Given the description of an element on the screen output the (x, y) to click on. 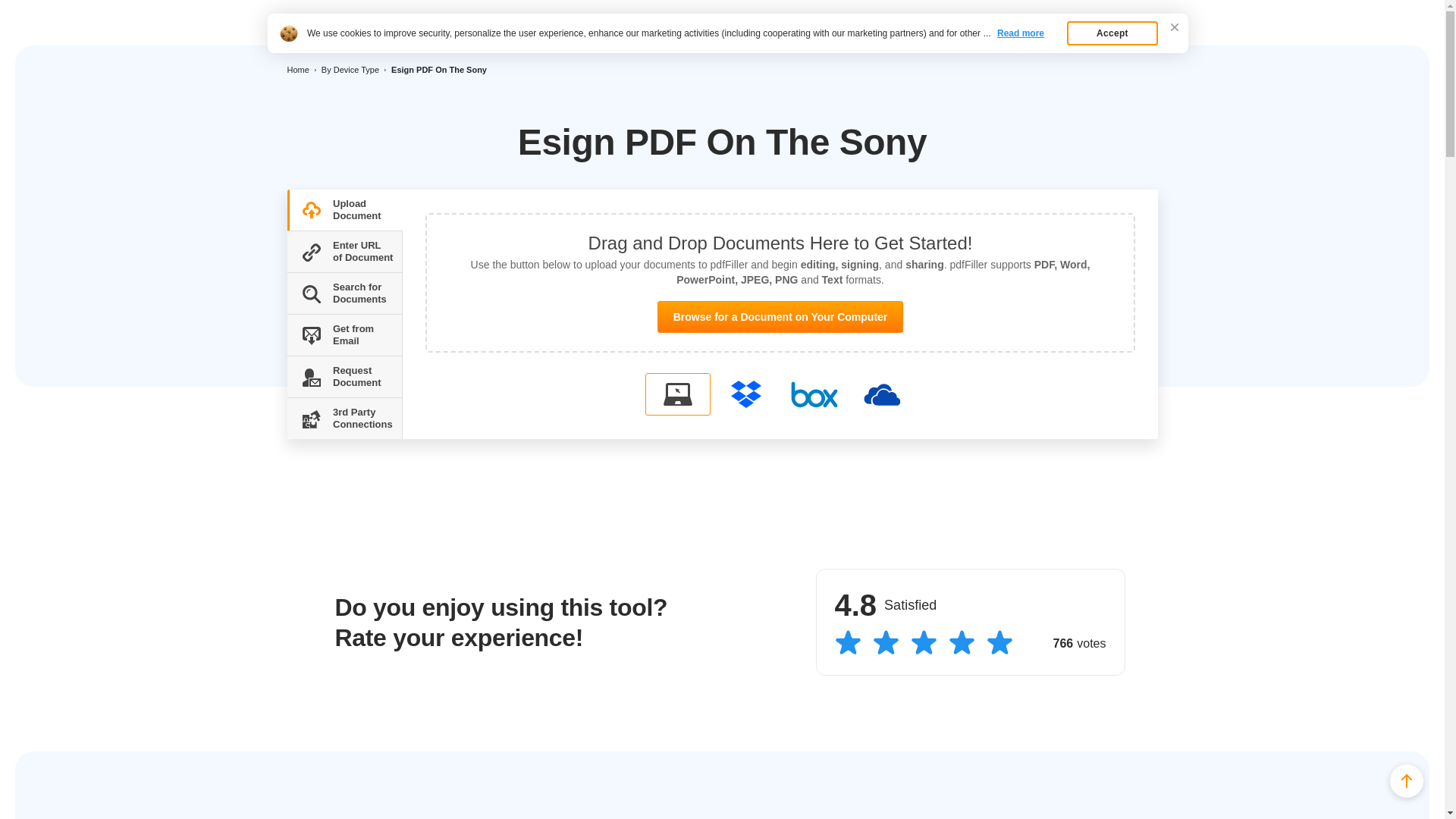
Scroll Up (1406, 780)
Esign PDF On The Sony (371, 22)
Home (297, 69)
By Device Type (349, 69)
